Given the description of an element on the screen output the (x, y) to click on. 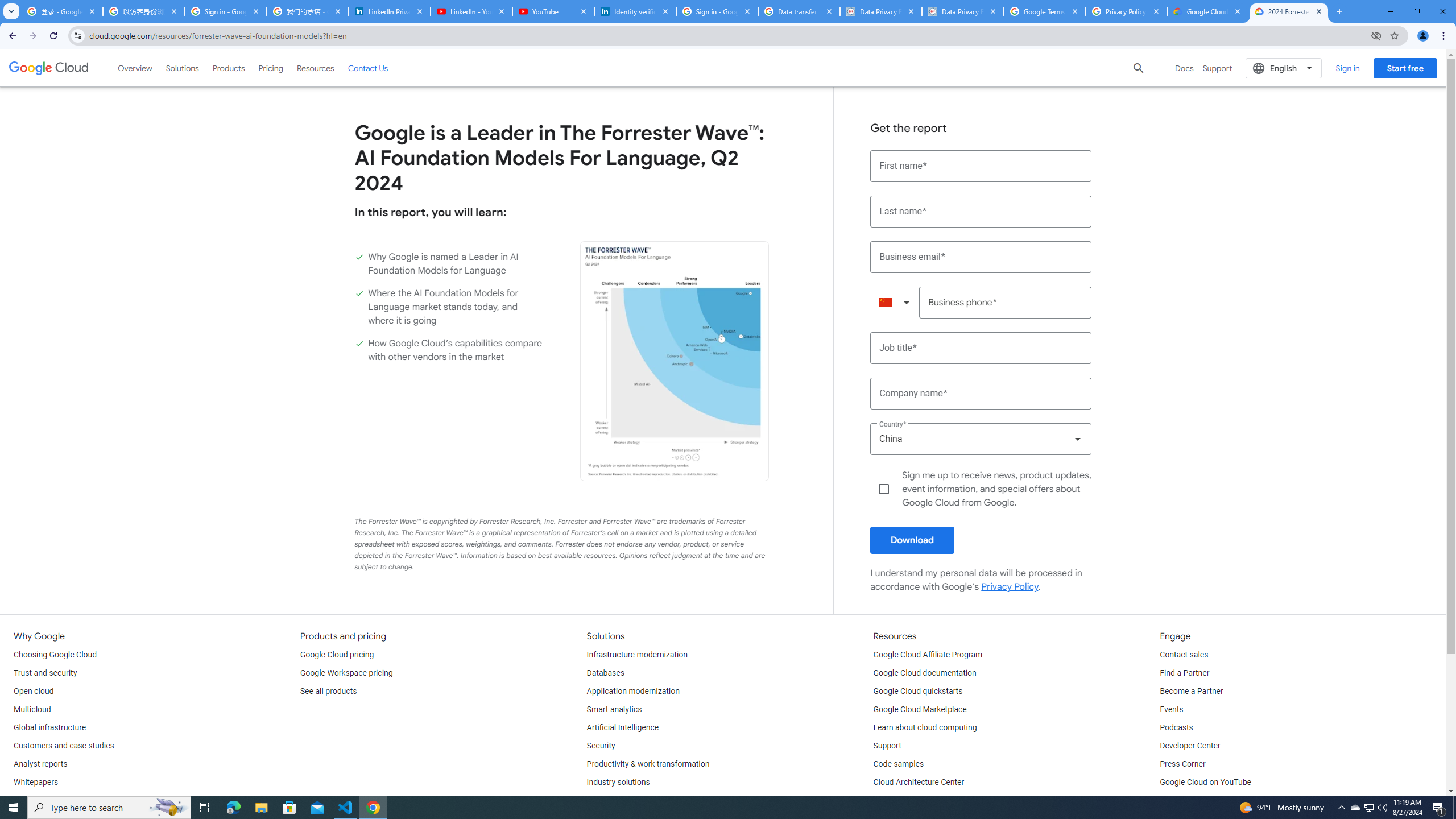
DevOps solutions (617, 800)
Google Cloud documentation (924, 673)
Google Cloud quickstarts (917, 691)
Google Cloud (48, 67)
Pricing (270, 67)
Docs (1183, 67)
Sign in - Google Accounts (716, 11)
Calling Code (+86) (894, 302)
